Given the description of an element on the screen output the (x, y) to click on. 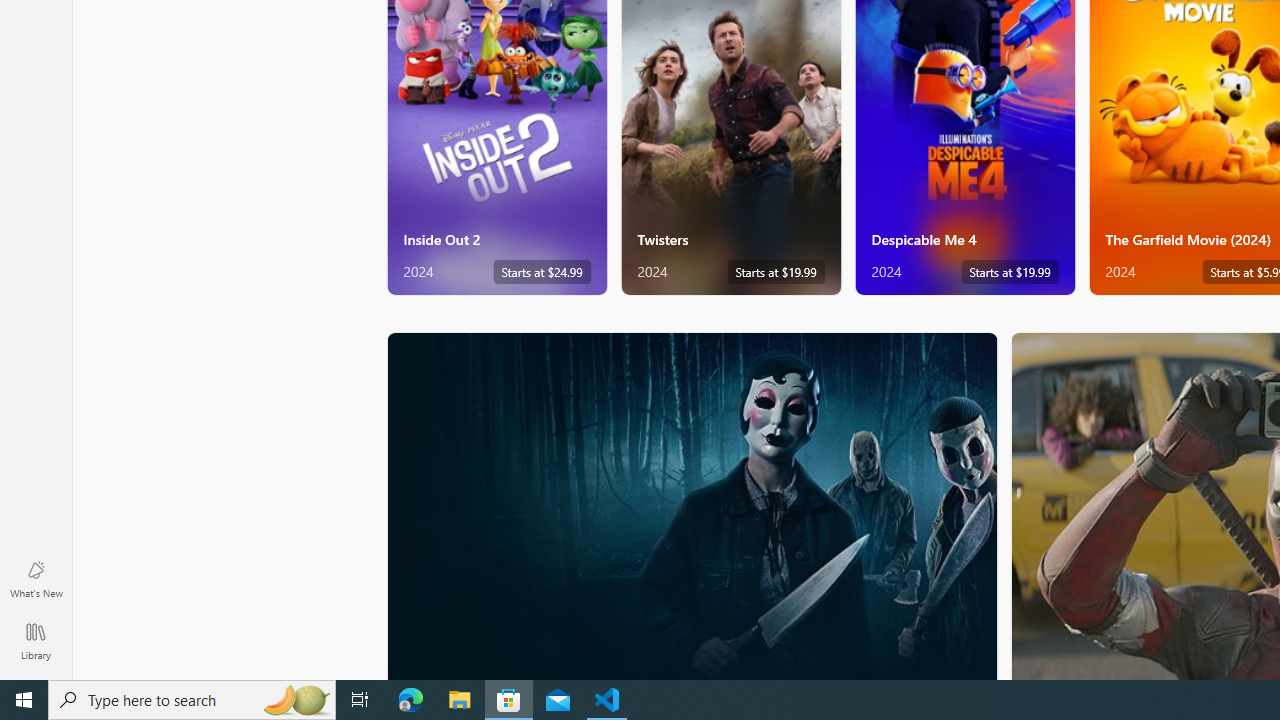
Library (35, 640)
What's New (35, 578)
Horror (692, 505)
AutomationID: PosterImage (690, 505)
